Given the description of an element on the screen output the (x, y) to click on. 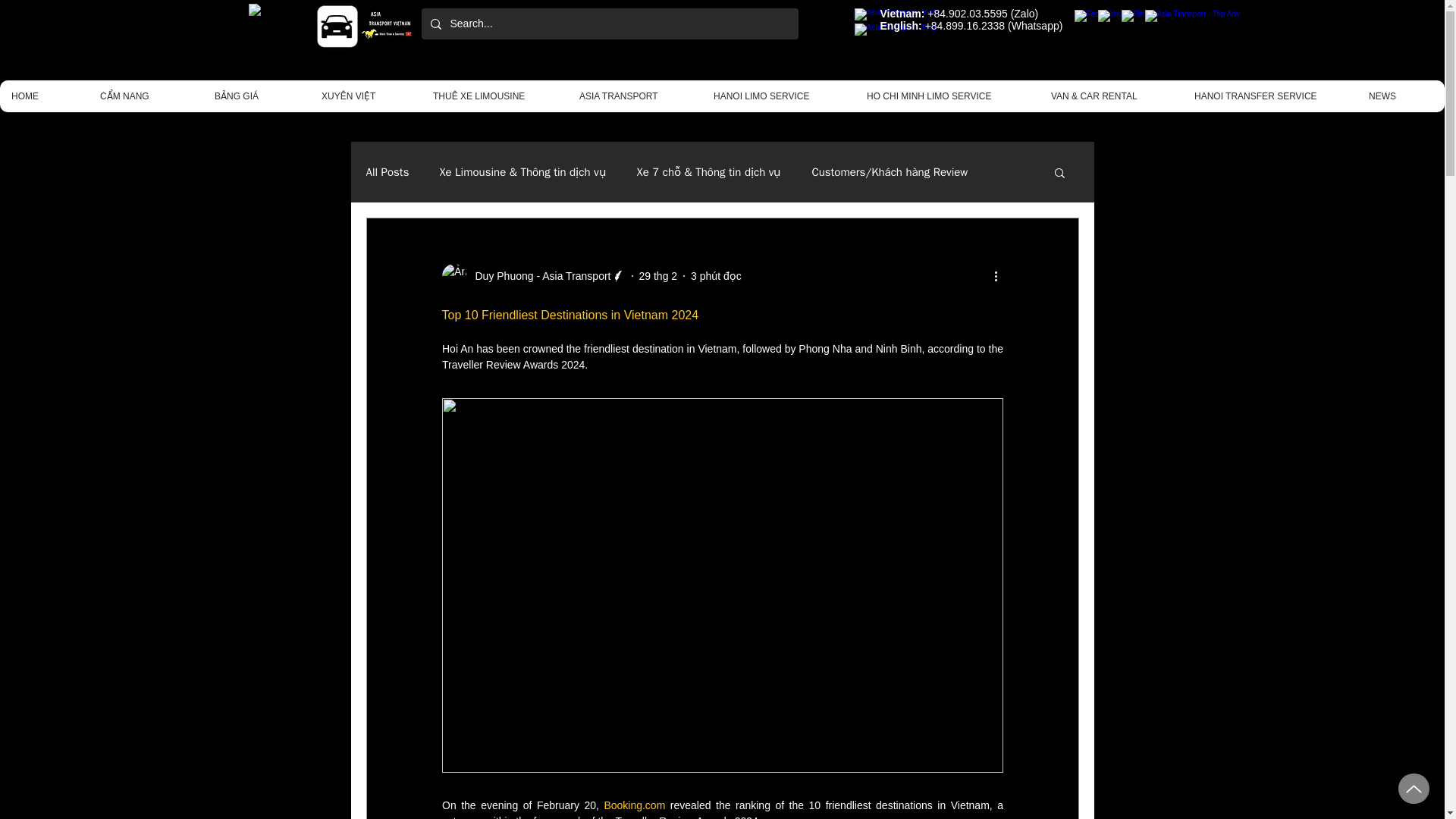
HOME (43, 96)
Duy Phuong - Asia Transport (537, 276)
29 thg 2 (658, 275)
